Given the description of an element on the screen output the (x, y) to click on. 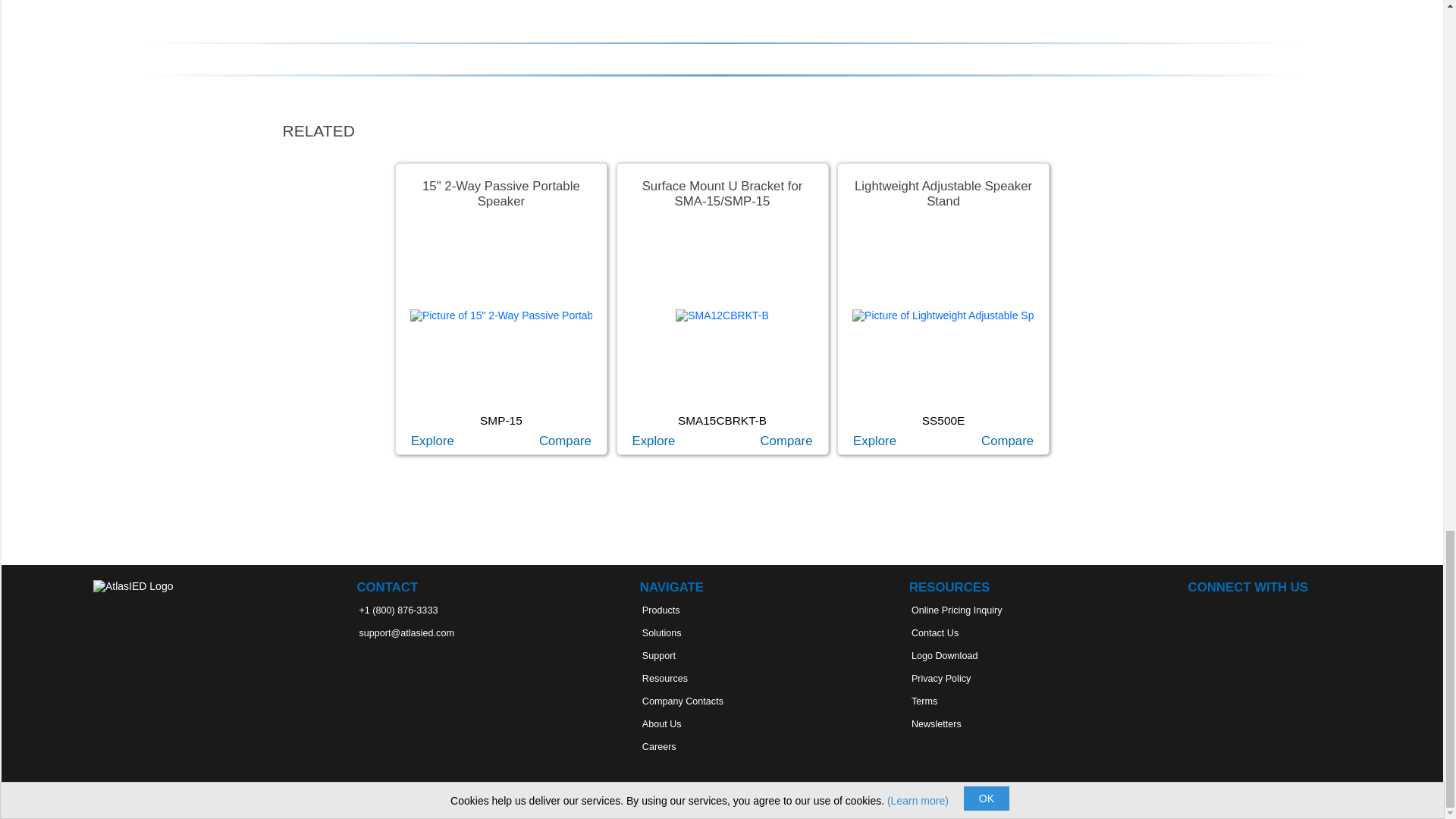
15" 2-Way Passive Portable Speaker (501, 315)
15" 2-Way Passive Portable Speaker (432, 440)
15" 2-Way Passive Portable Speaker (501, 315)
